Given the description of an element on the screen output the (x, y) to click on. 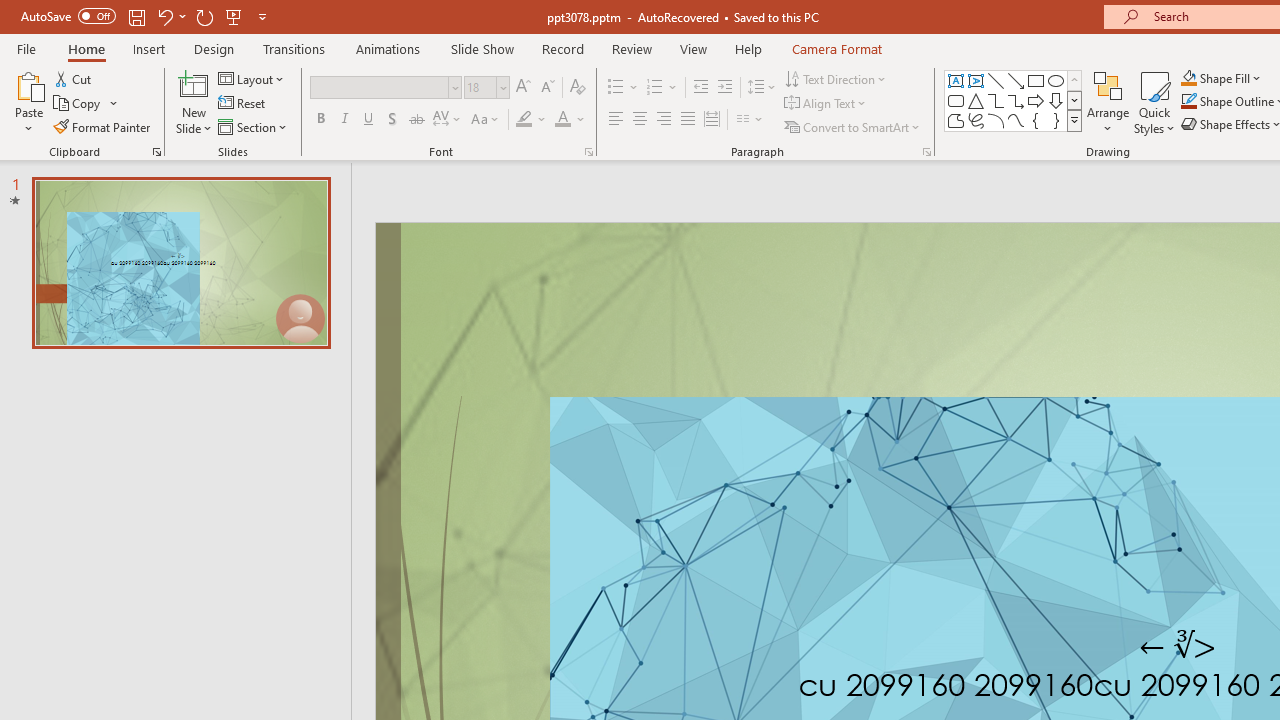
Shape Fill Dark Green, Accent 2 (1188, 78)
